Given the description of an element on the screen output the (x, y) to click on. 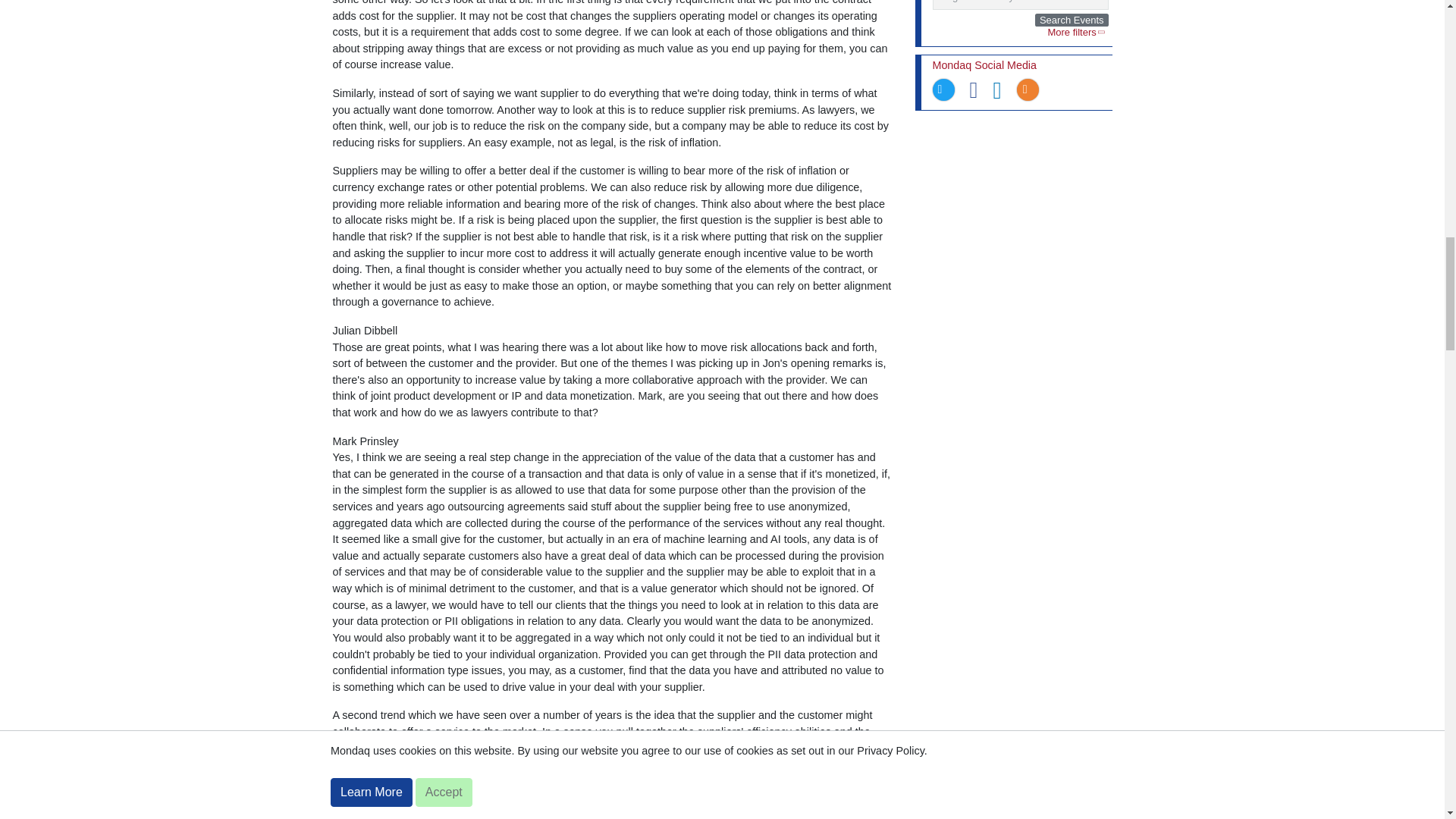
Search Events (1071, 19)
